Given the description of an element on the screen output the (x, y) to click on. 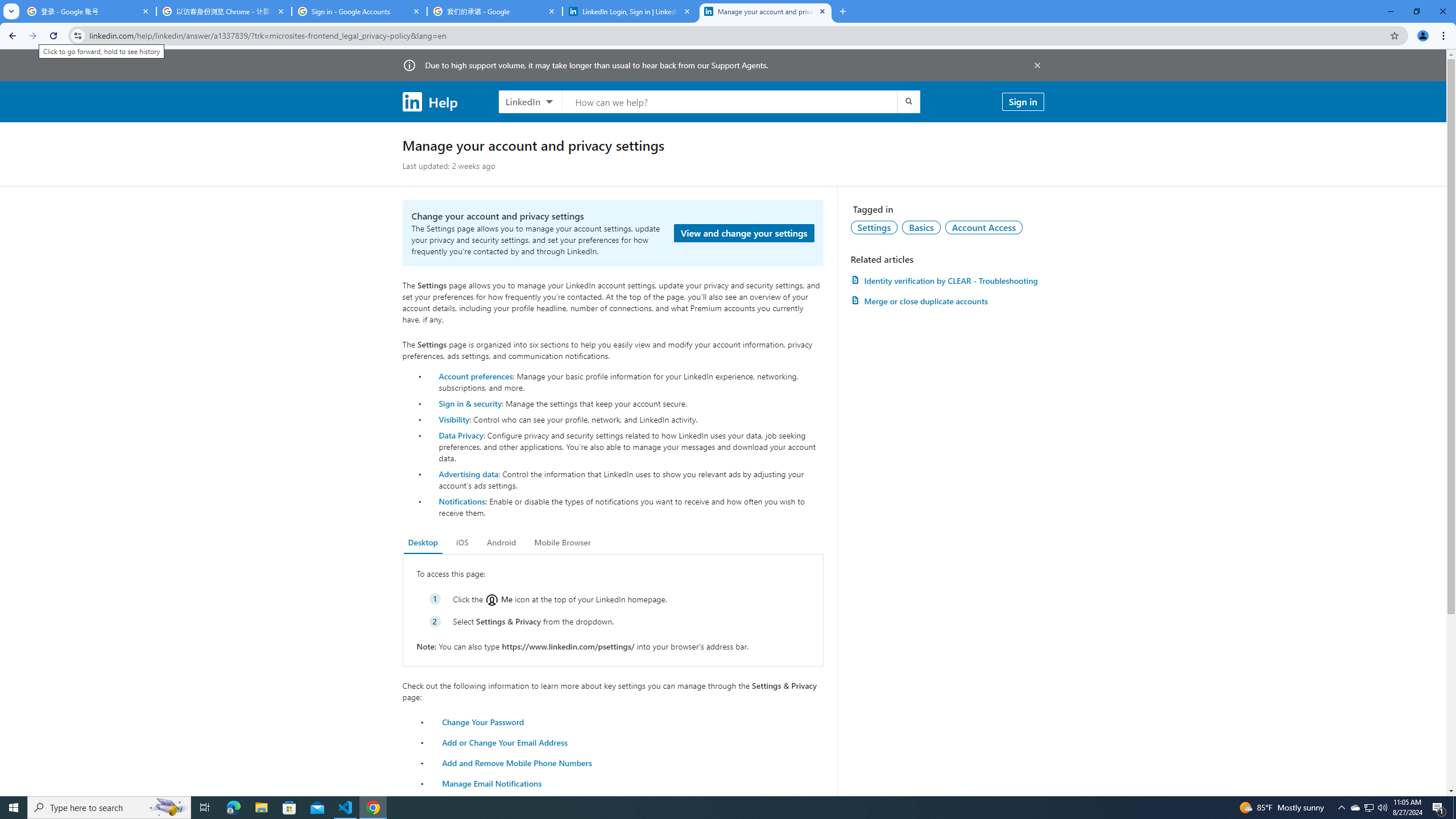
Advertising data (468, 473)
Data Privacy (460, 434)
Visibility (454, 419)
AutomationID: topic-link-a51 (921, 227)
AutomationID: topic-link-a151002 (983, 227)
Manage your account and privacy settings | LinkedIn Help (765, 11)
Submit search (908, 101)
View and change your settings (743, 232)
Merge or close duplicate accounts (946, 300)
Add or Change Your Email Address (504, 741)
